Given the description of an element on the screen output the (x, y) to click on. 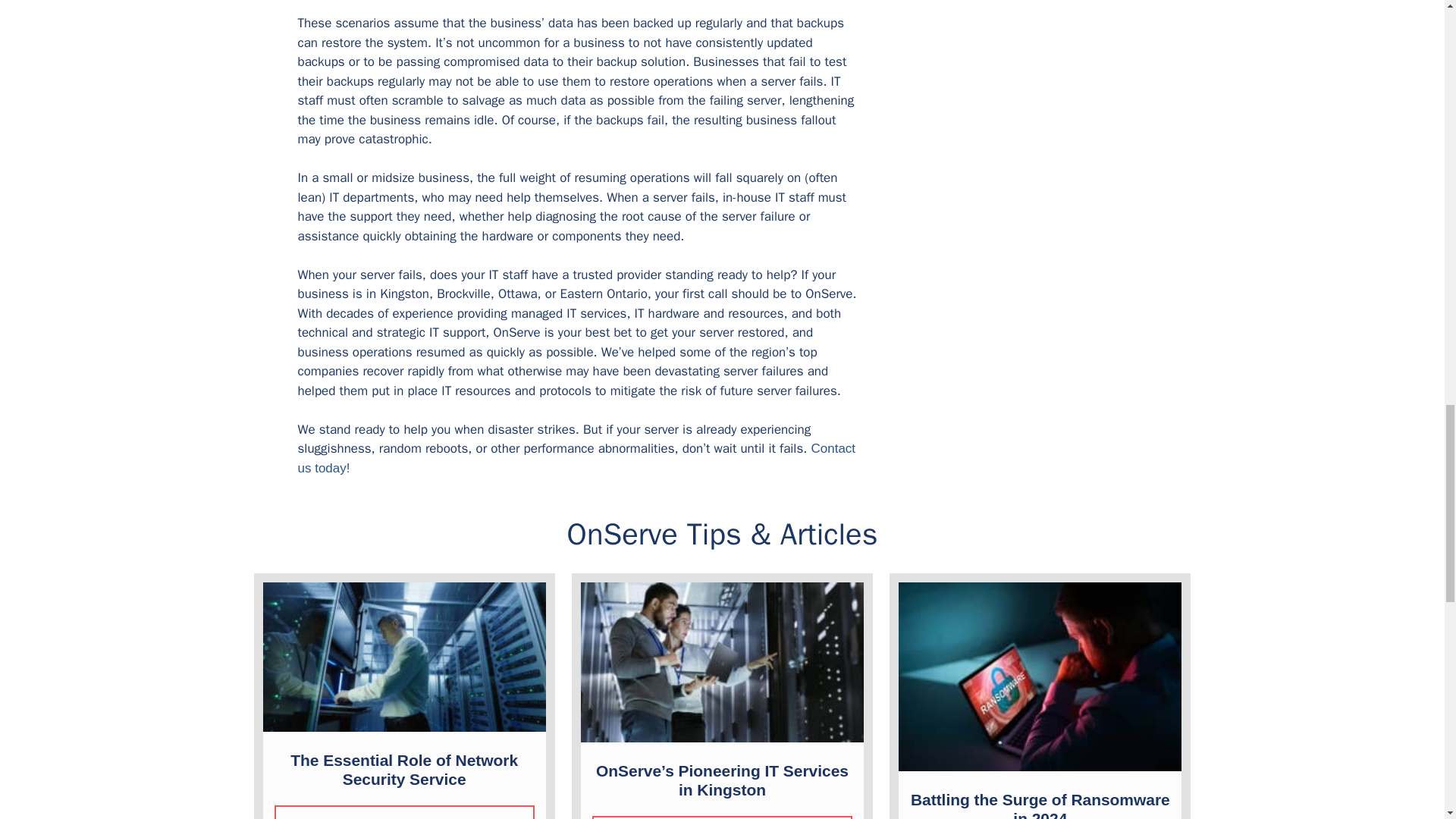
The Essential Role of Network Security Service (403, 769)
Contact us today! (576, 458)
Battling the Surge of Ransomware in 2024 (1040, 805)
